Given the description of an element on the screen output the (x, y) to click on. 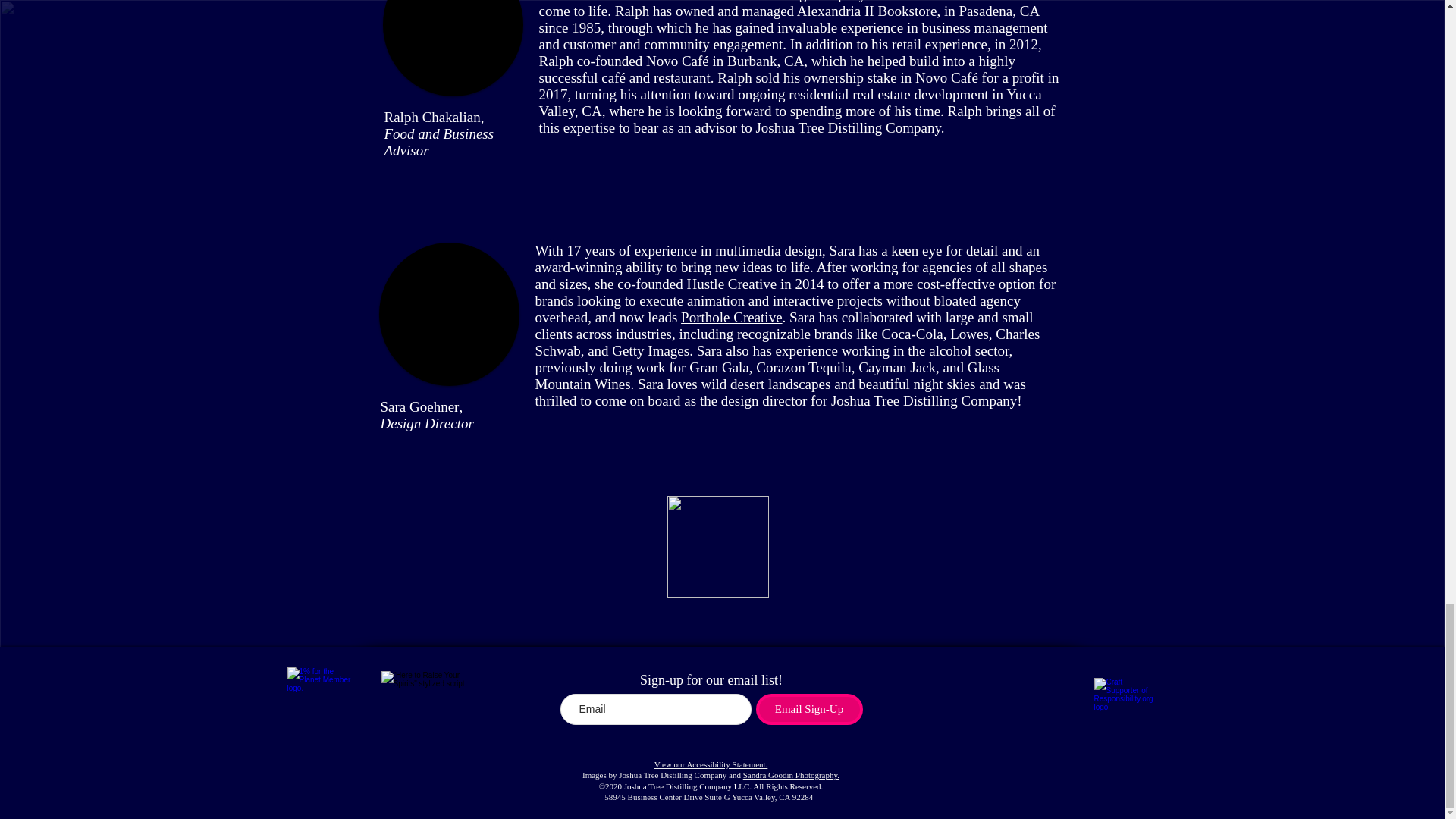
Sandra Goodin Photography. (791, 774)
Email Sign-Up (808, 708)
Porthole Creative (732, 317)
View our Accessibility Statement. (710, 764)
Alexandria II Bookstore (866, 10)
